Given the description of an element on the screen output the (x, y) to click on. 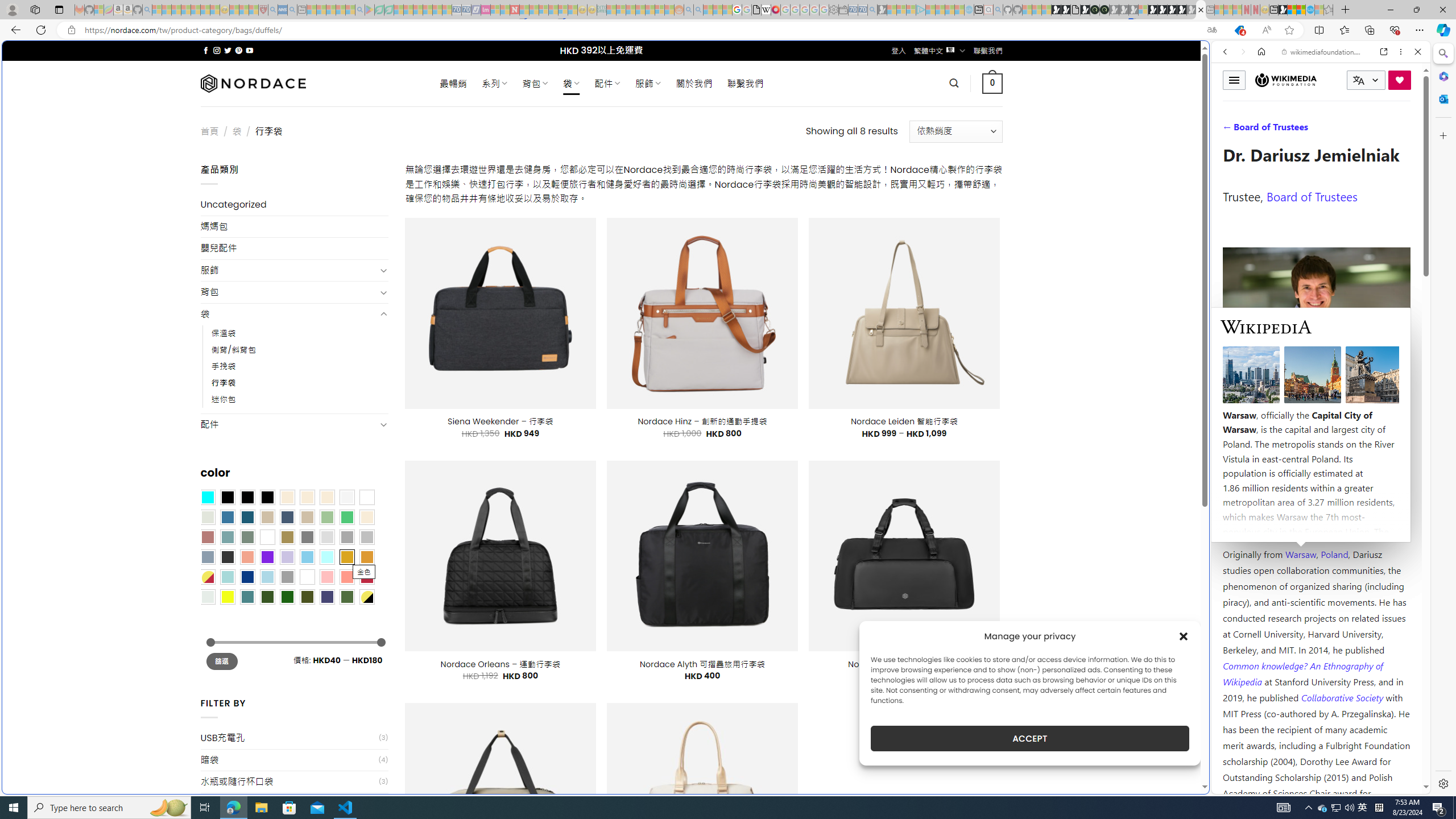
Play Cave FRVR in your browser | Games from Microsoft Start (922, 242)
github - Search - Sleeping (997, 9)
